Given the description of an element on the screen output the (x, y) to click on. 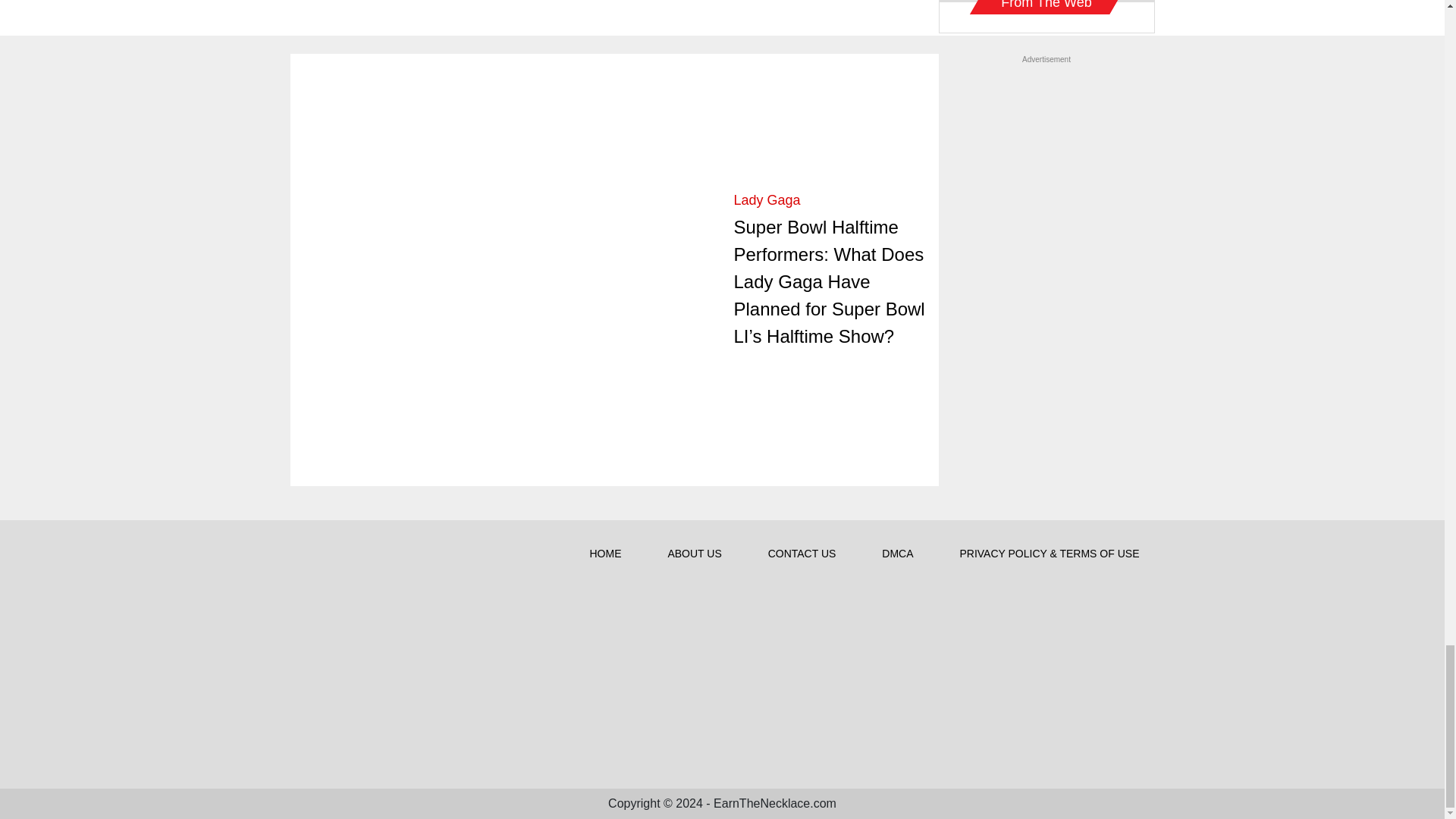
Category Name (766, 200)
